Given the description of an element on the screen output the (x, y) to click on. 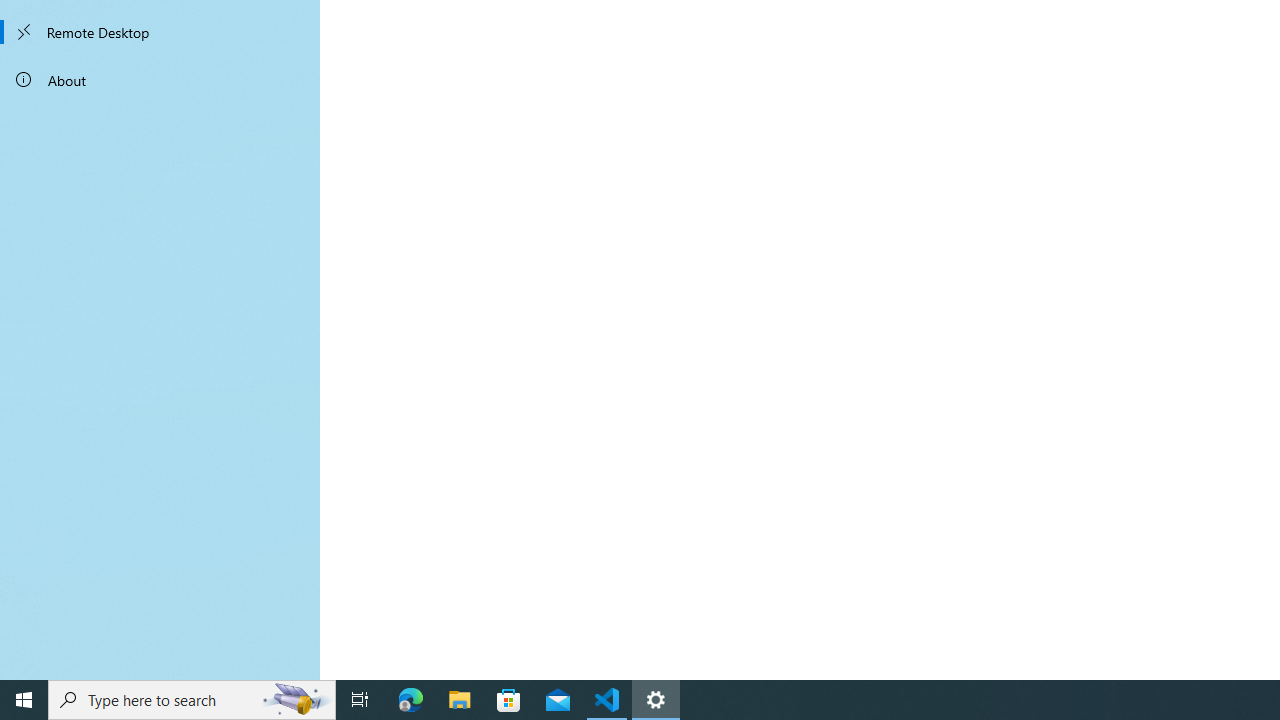
About (160, 79)
Settings - 1 running window (656, 699)
Remote Desktop (160, 31)
